Given the description of an element on the screen output the (x, y) to click on. 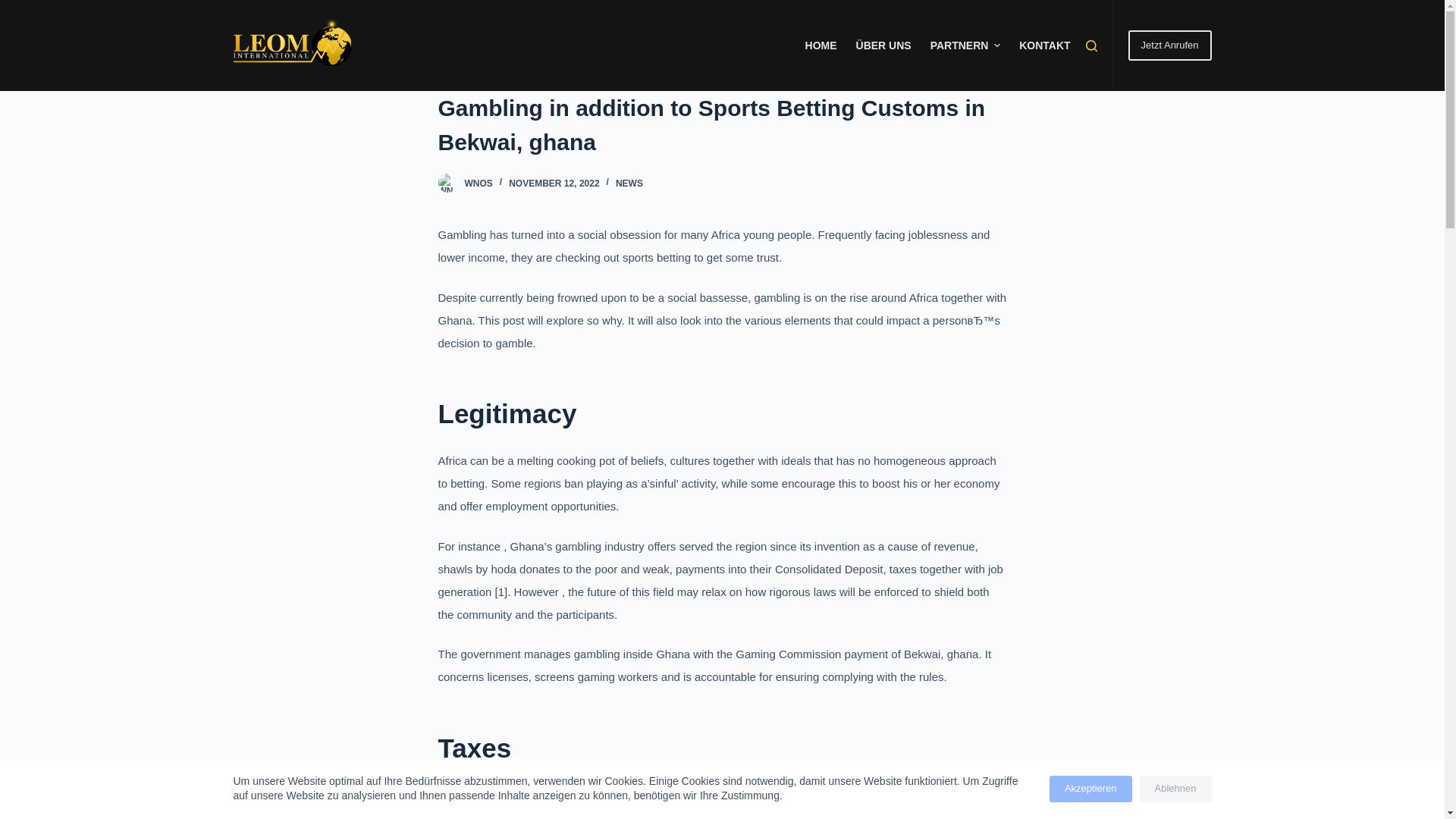
Akzeptieren (1090, 788)
Zum Inhalt springen (15, 7)
Ablehnen (1175, 788)
Jetzt Anrufen (1169, 45)
PARTNERN (965, 45)
